Given the description of an element on the screen output the (x, y) to click on. 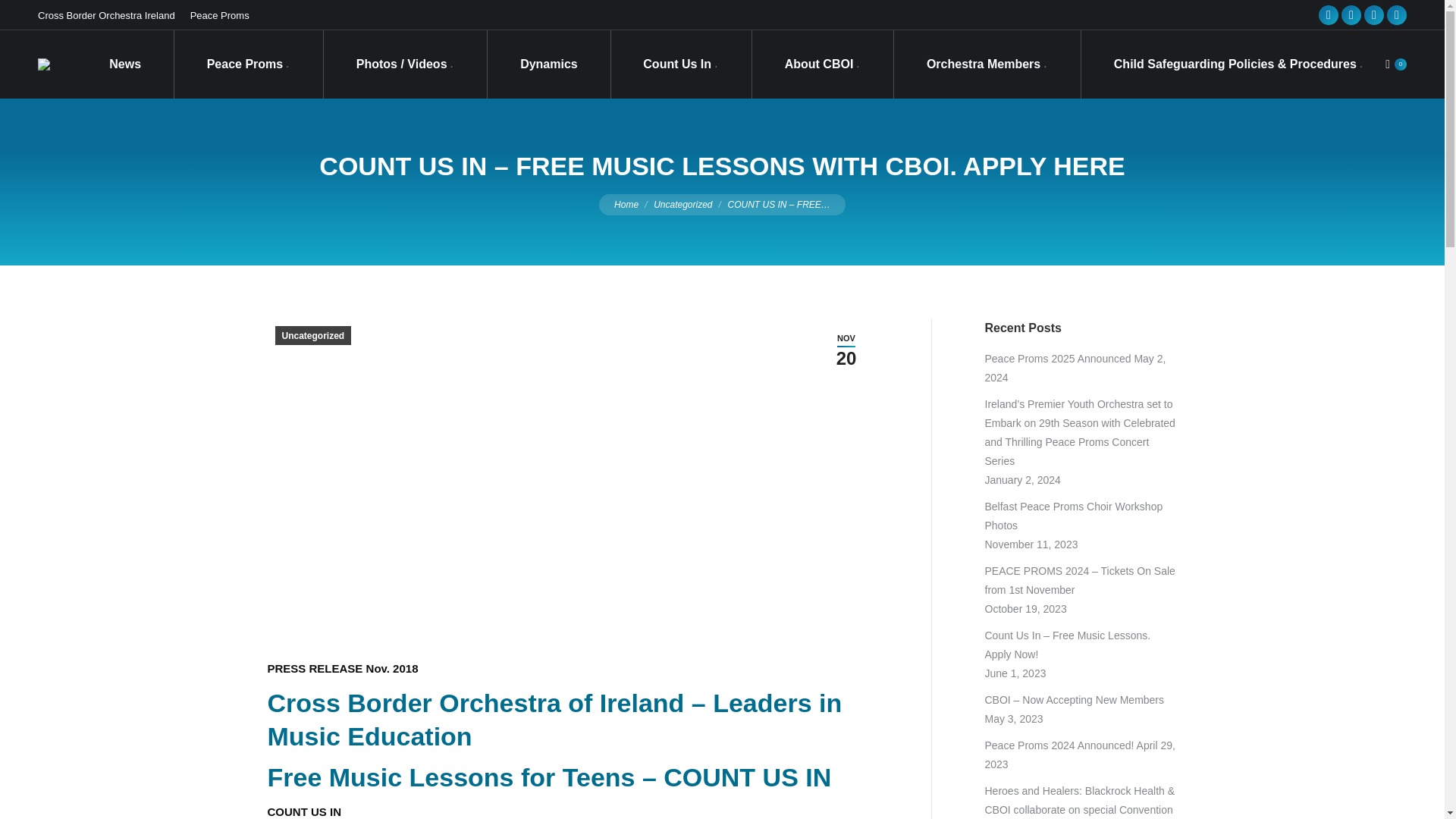
Twitter page opens in new window (1350, 14)
Mail page opens in new window (1396, 14)
Facebook page opens in new window (1328, 14)
Mail page opens in new window (1396, 14)
YouTube page opens in new window (1374, 14)
YouTube page opens in new window (1374, 14)
News (124, 64)
About CBOI (822, 64)
11:07 am (845, 349)
Twitter page opens in new window (1350, 14)
Count Us In (680, 64)
Facebook page opens in new window (1328, 14)
Orchestra Members (987, 64)
Peace Proms (247, 64)
Dynamics (548, 64)
